Given the description of an element on the screen output the (x, y) to click on. 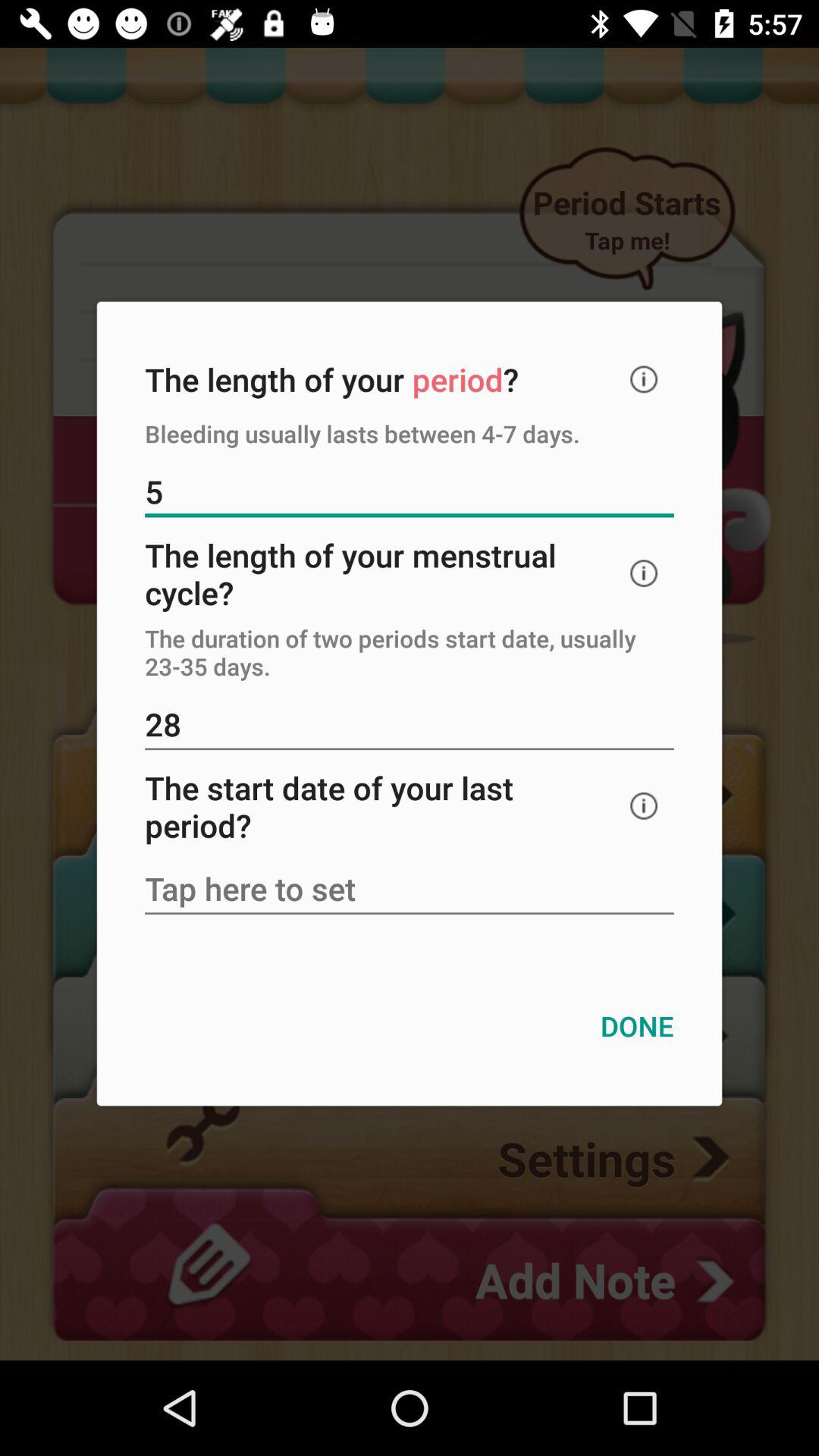
date entry field (409, 890)
